Given the description of an element on the screen output the (x, y) to click on. 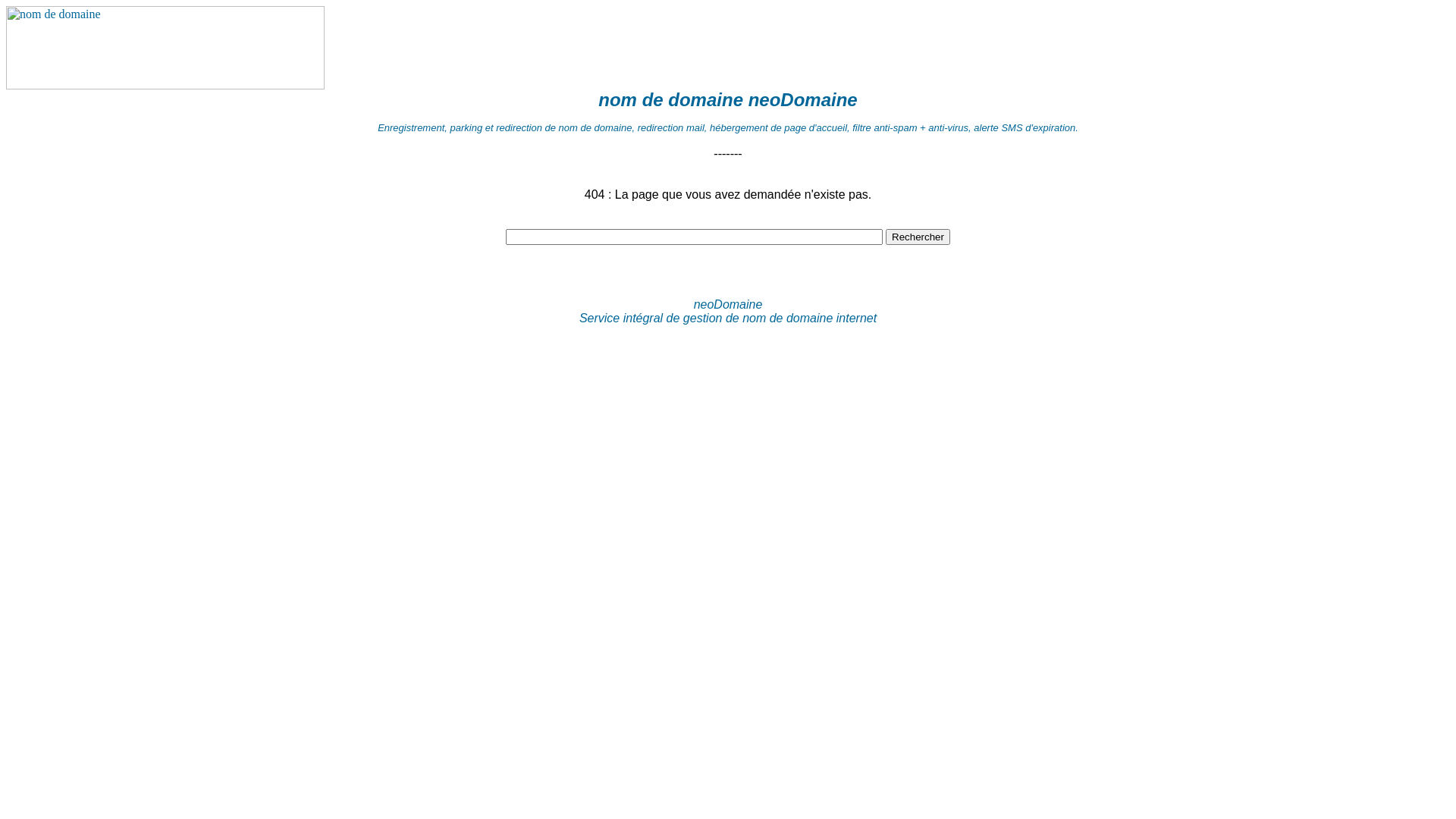
Rechercher Element type: text (917, 236)
nom de domaine Element type: hover (165, 84)
nom de domaine Element type: text (787, 317)
nom de domaine Element type: hover (165, 47)
nom de domaine Element type: text (670, 99)
